Given the description of an element on the screen output the (x, y) to click on. 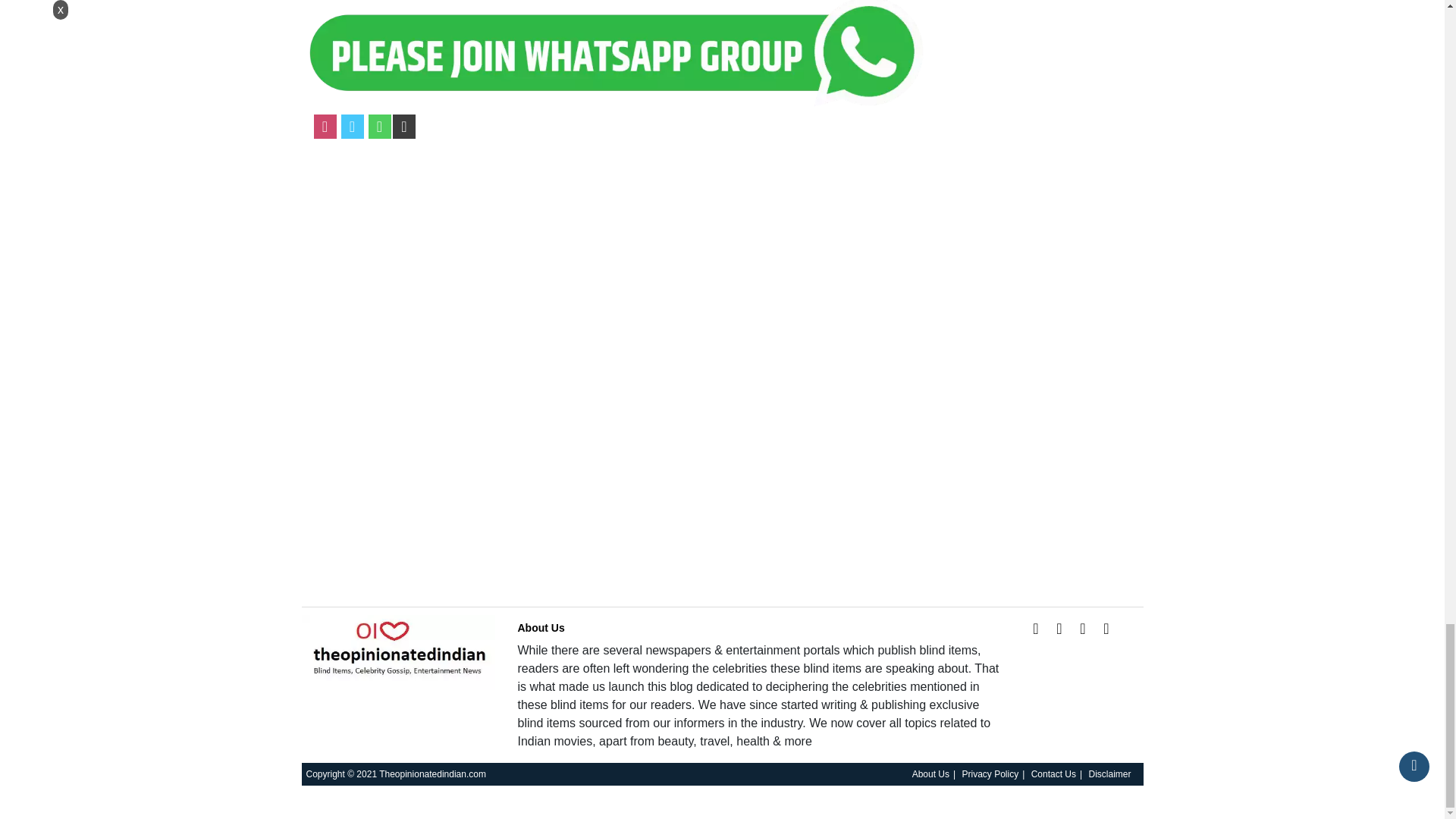
Instagram (1082, 628)
Twitter (1058, 628)
Facebook (1035, 628)
Telegram (403, 126)
Twitter (352, 126)
Instagram (325, 126)
WhatsApp (379, 126)
Youtube (1105, 628)
